Given the description of an element on the screen output the (x, y) to click on. 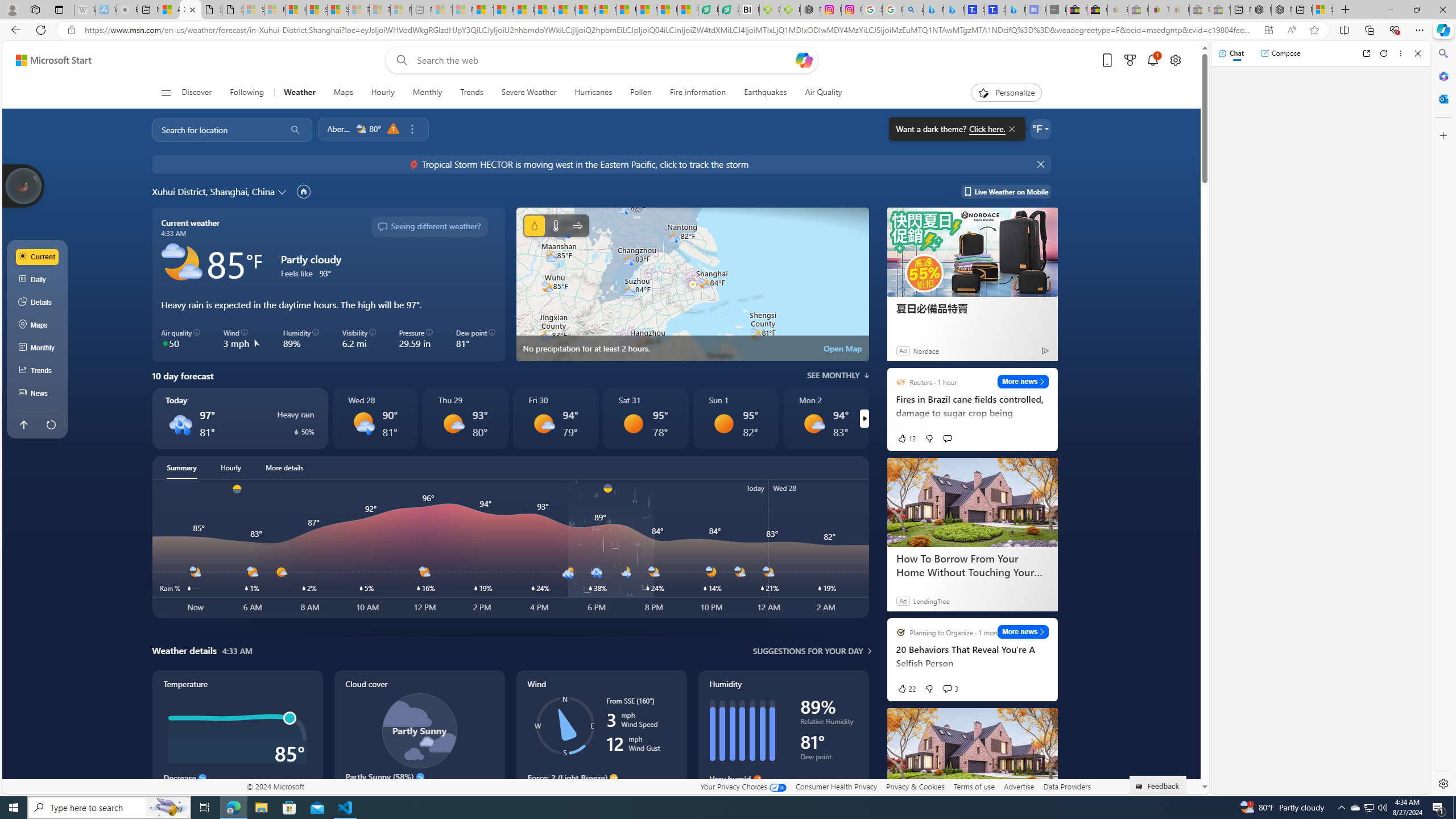
Severe Weather (528, 92)
Open Copilot (803, 59)
Sign in to your Microsoft account - Sleeping (253, 9)
Web search (398, 60)
News (37, 393)
Foo BAR | Trusted Community Engagement and Contributions (584, 9)
Trends (37, 370)
Threats and offensive language policy | eBay (1158, 9)
US Heat Deaths Soared To Record High Last Year (626, 9)
Monthly (427, 92)
New tab - Sleeping (421, 9)
